Given the description of an element on the screen output the (x, y) to click on. 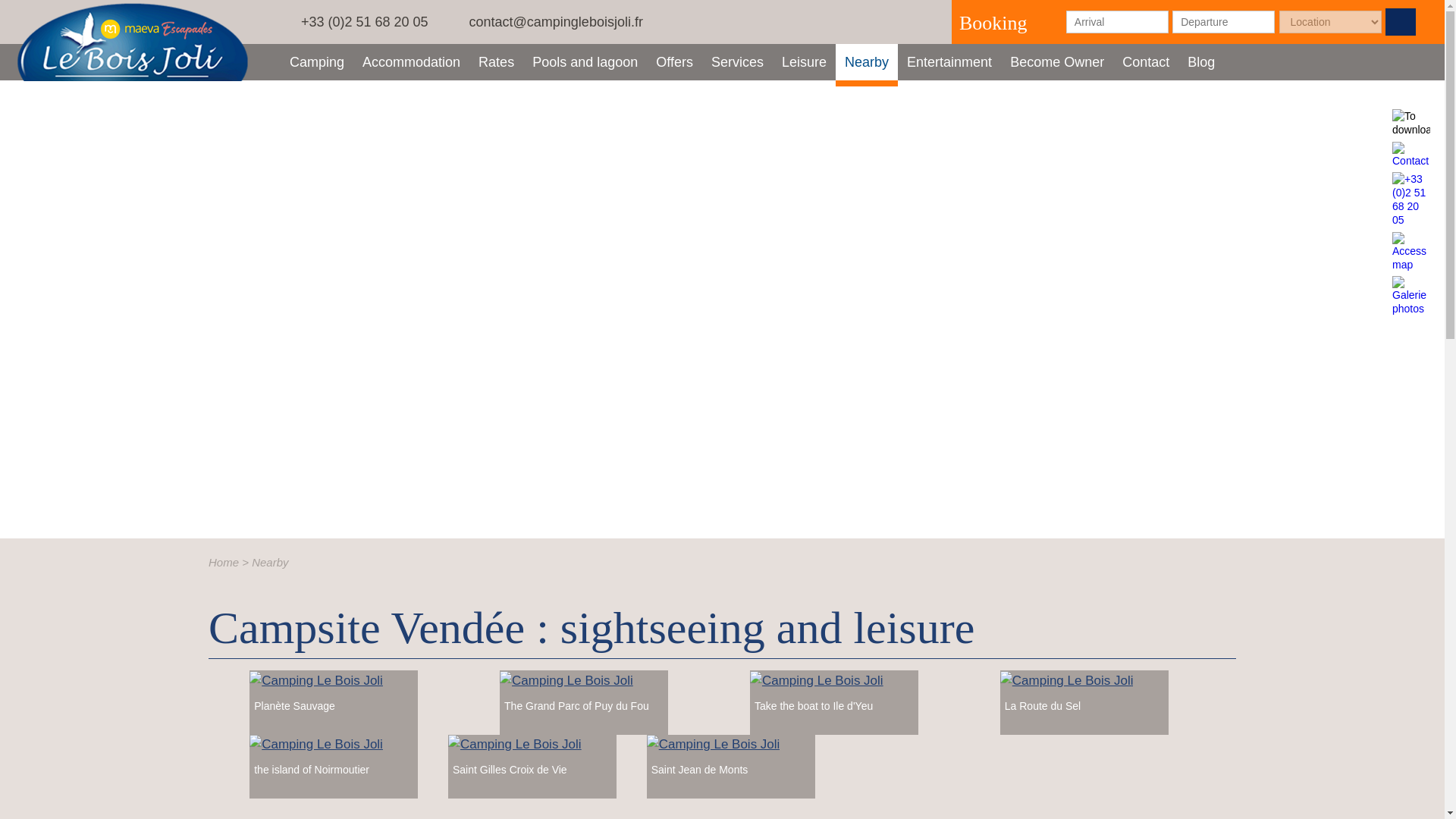
Accommodation (410, 62)
Your camping pitch near Noirmoutier ! (317, 62)
Valider (1400, 22)
Pool (584, 62)
Camping (317, 62)
Services (737, 62)
Pools and lagoon (866, 62)
Leisure (584, 62)
Rates (804, 62)
